Given the description of an element on the screen output the (x, y) to click on. 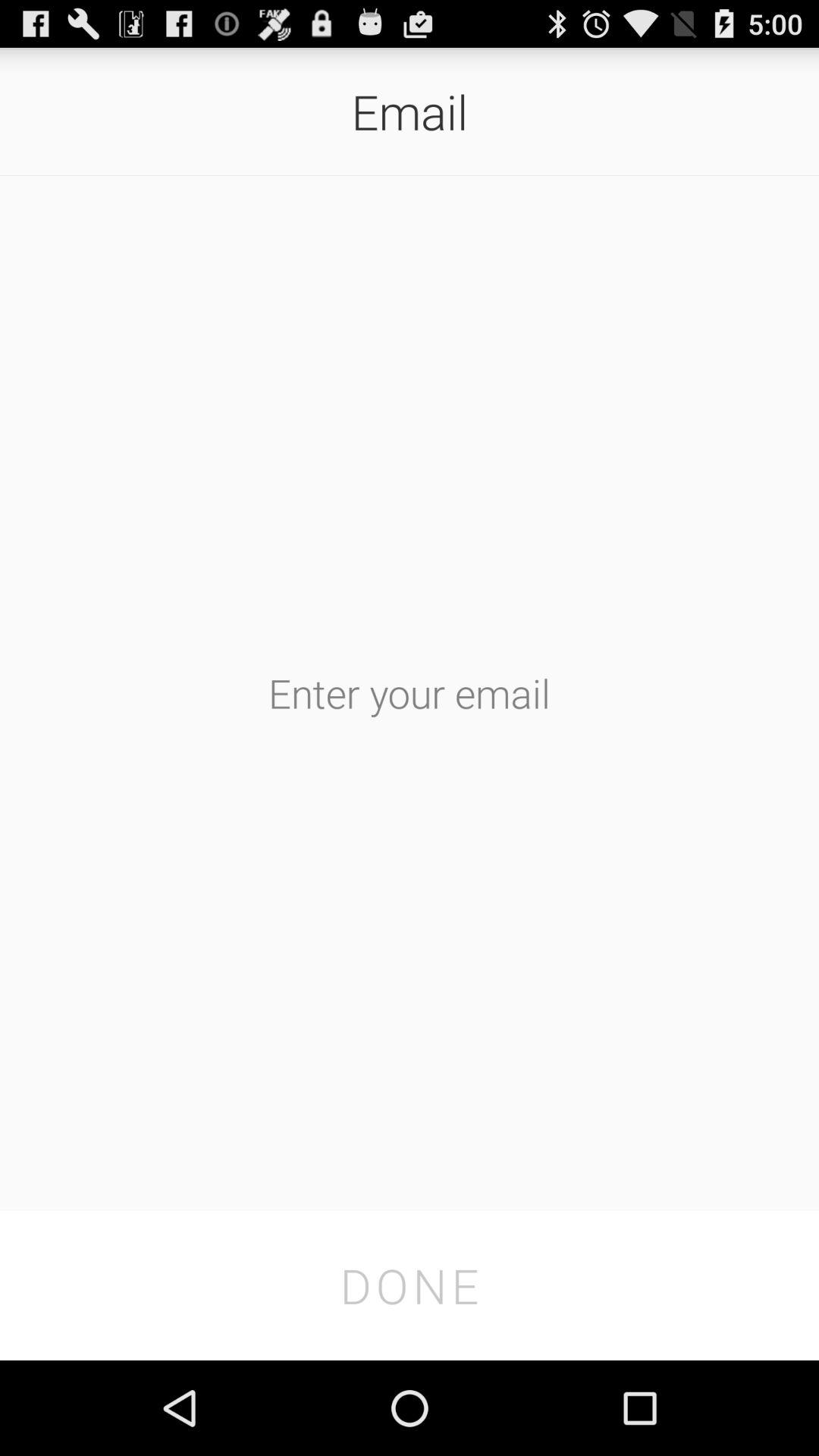
enter email id (409, 692)
